Given the description of an element on the screen output the (x, y) to click on. 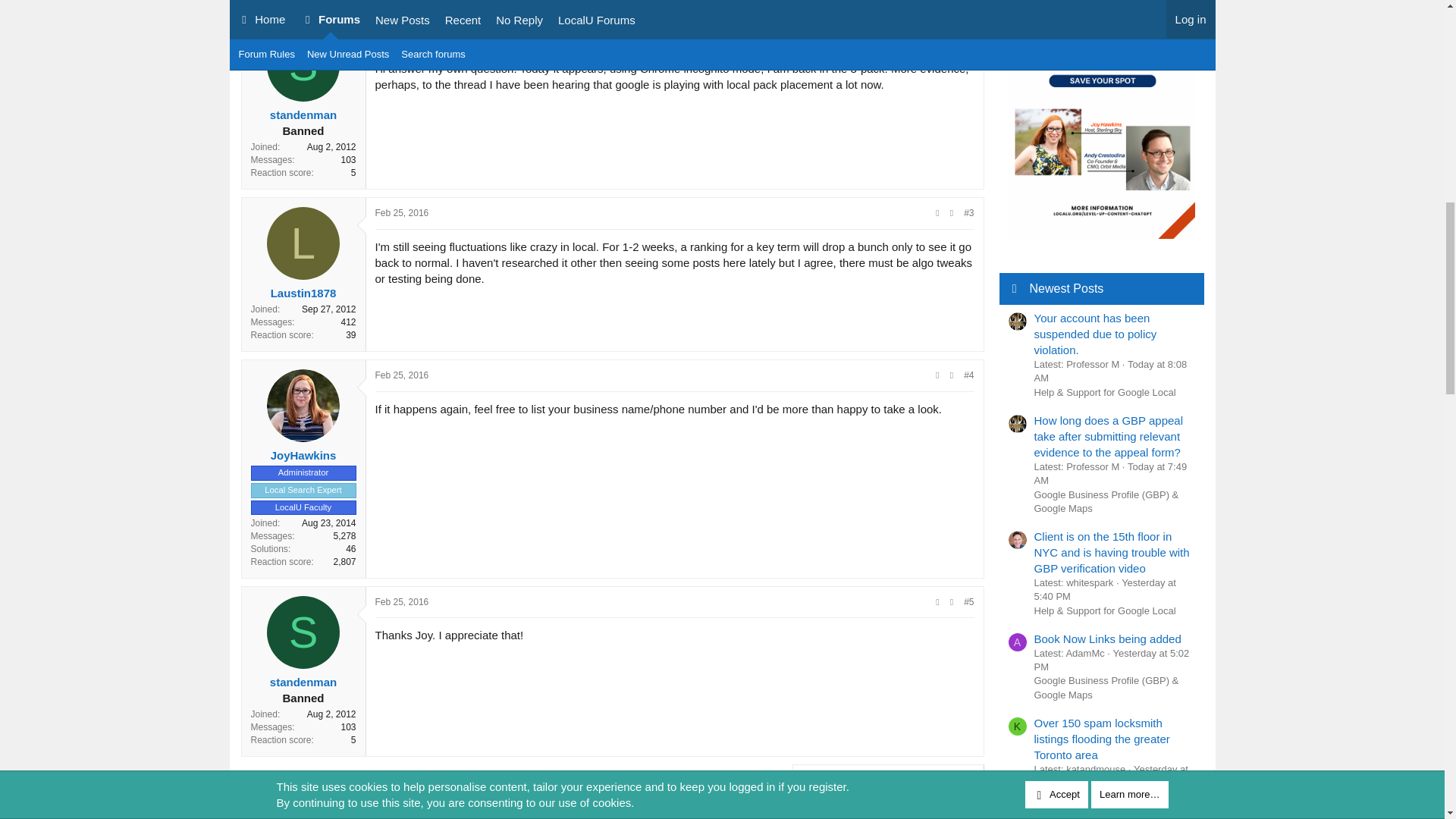
Feb 25, 2016 at 4:15 PM (401, 375)
Feb 25, 2016 at 9:54 PM (401, 602)
Feb 25, 2016 at 1:42 PM (401, 213)
Feb 25, 2016 at 10:57 AM (401, 34)
